Given the description of an element on the screen output the (x, y) to click on. 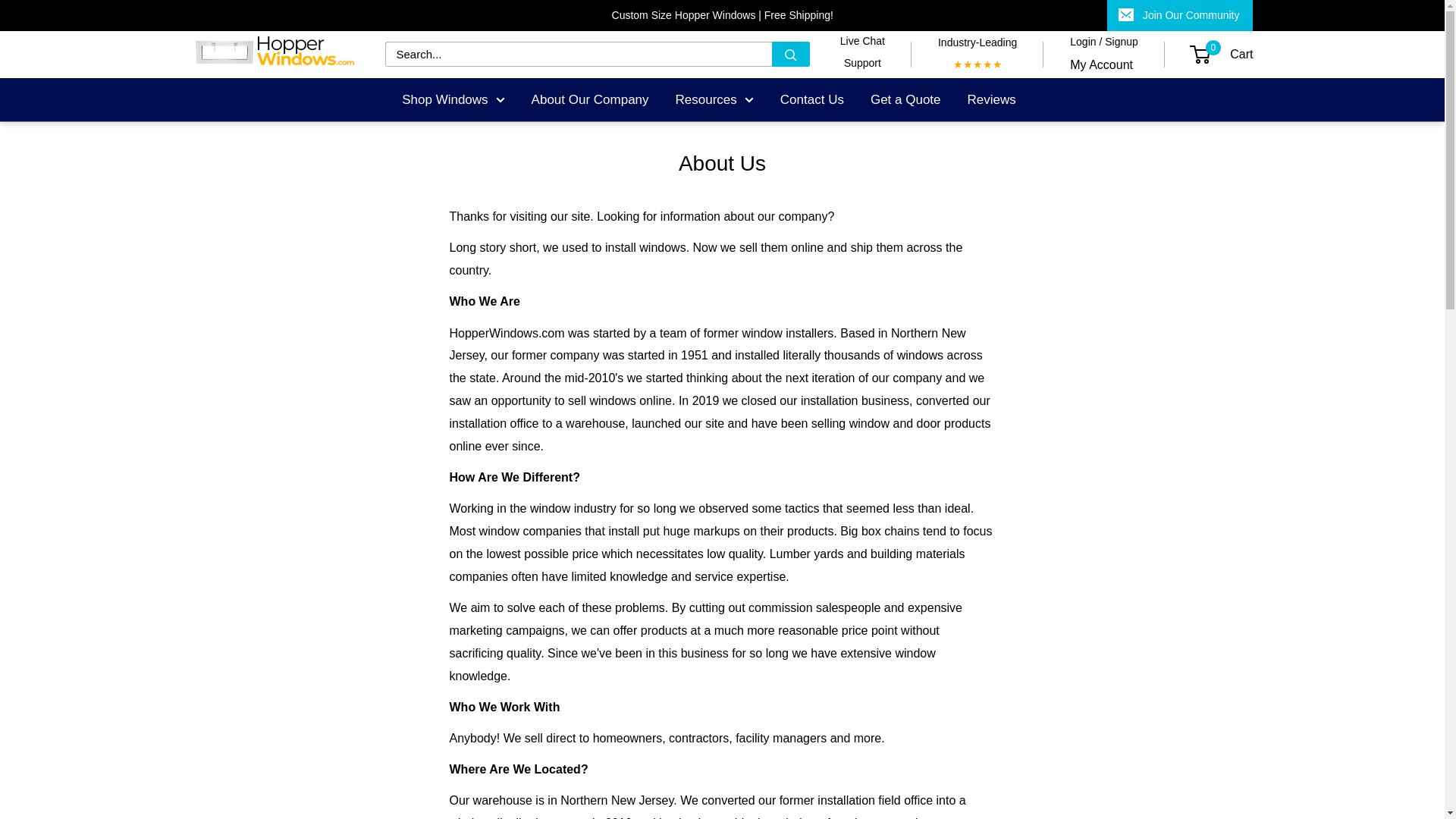
Join Our Community (1179, 15)
HopperWindows.com (271, 54)
